Given the description of an element on the screen output the (x, y) to click on. 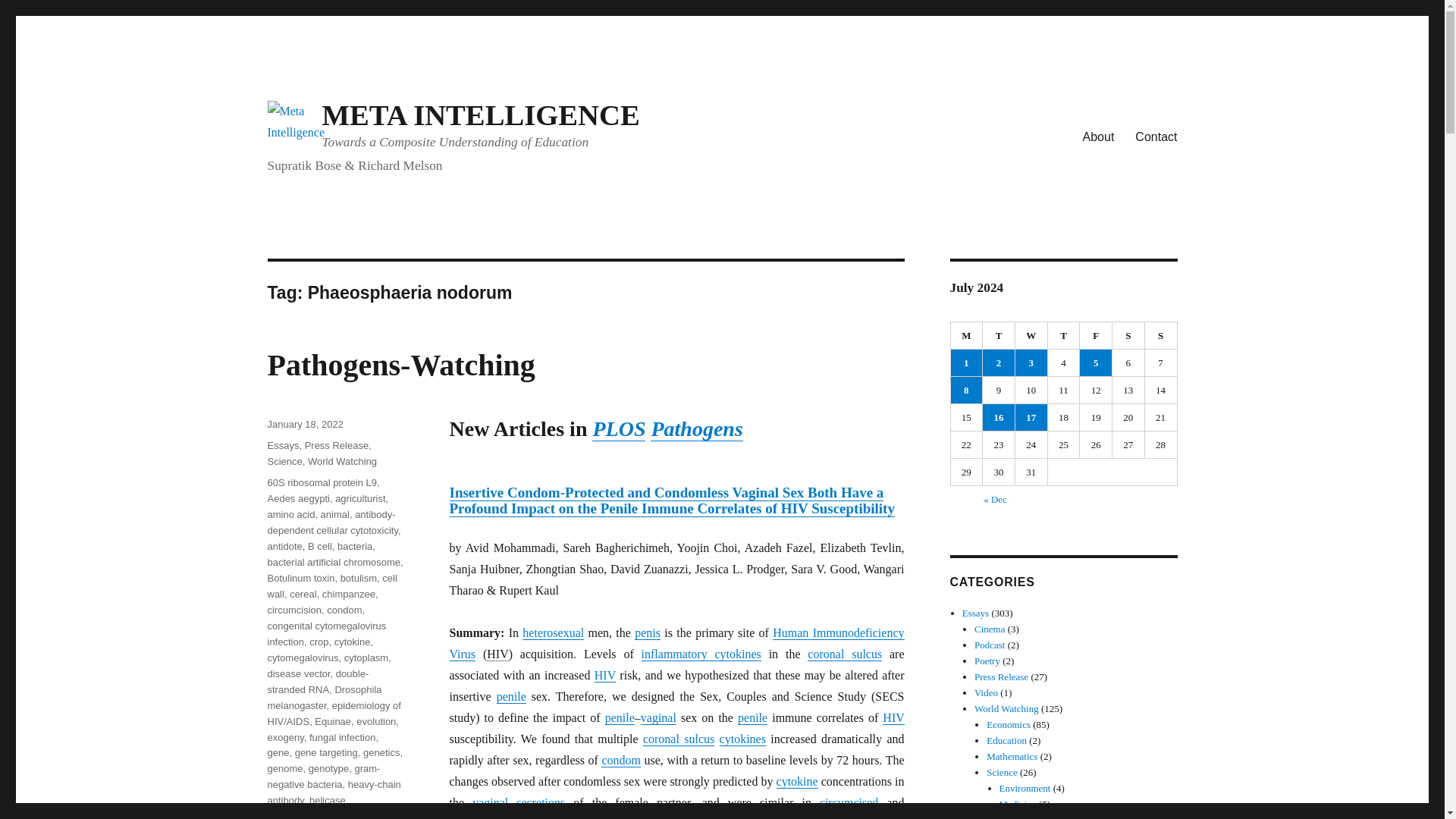
coronal sulcus (678, 738)
About (1098, 137)
Contact (1156, 137)
coronal sulcus (845, 653)
Human Immunodeficiency Virus (676, 643)
penile (619, 717)
Pathogens (696, 428)
Human Immunodeficiency Virus (893, 717)
human immunodeficiency viruses (794, 508)
Public Library of Science (618, 428)
cytokine (797, 780)
penile (510, 696)
HIV (893, 717)
vaginal (658, 717)
